Given the description of an element on the screen output the (x, y) to click on. 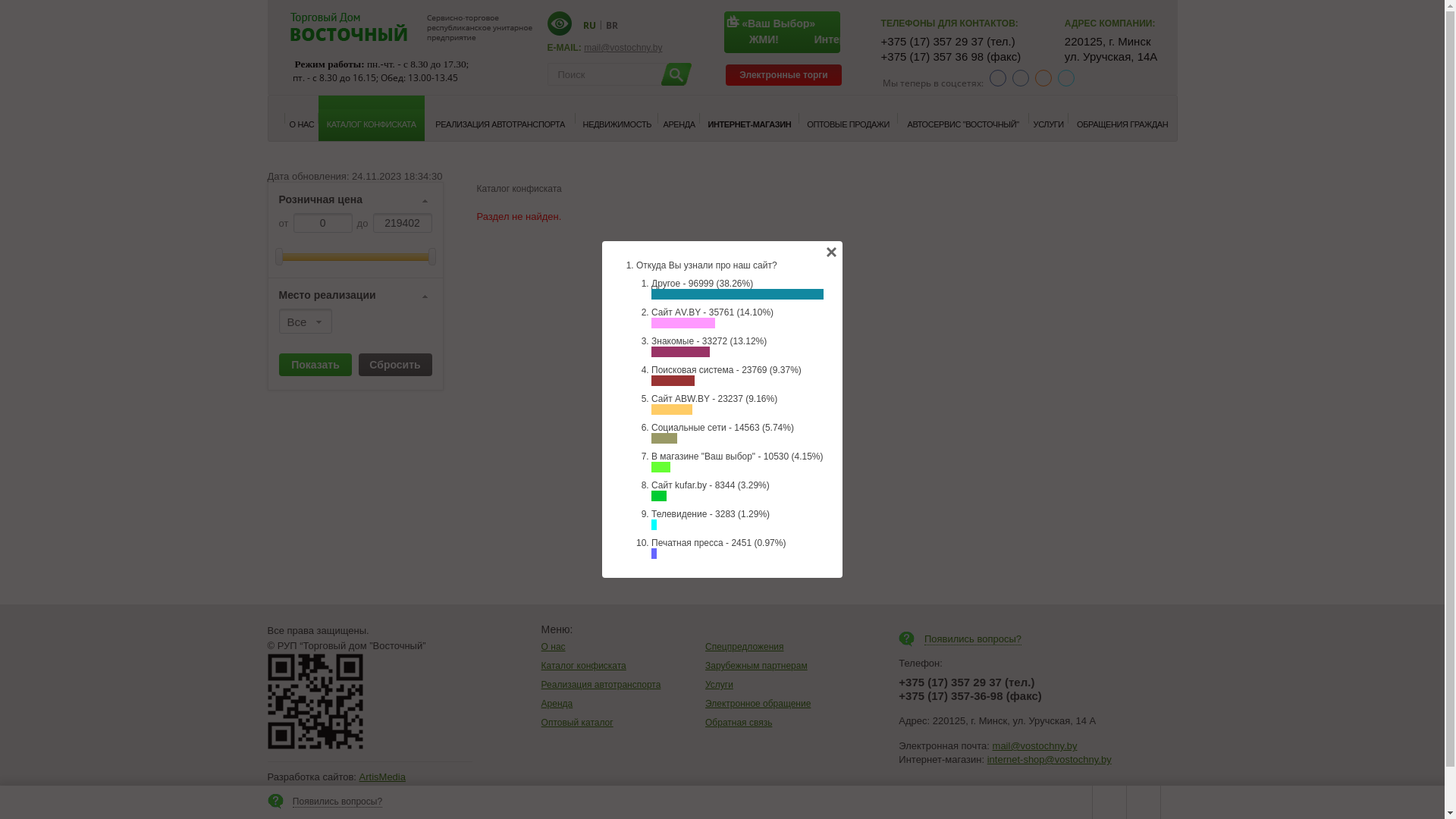
odnoklassniki Element type: hover (1043, 77)
internet-shop@vostochny.by Element type: text (1049, 759)
RU Element type: text (588, 24)
twitter Element type: hover (1065, 77)
BR Element type: text (611, 24)
vk Element type: hover (1020, 77)
facebook Element type: hover (997, 77)
ArtisMedia Element type: text (382, 776)
mail@vostochny.by Element type: text (622, 47)
mail@vostochny.by Element type: text (1034, 745)
